Given the description of an element on the screen output the (x, y) to click on. 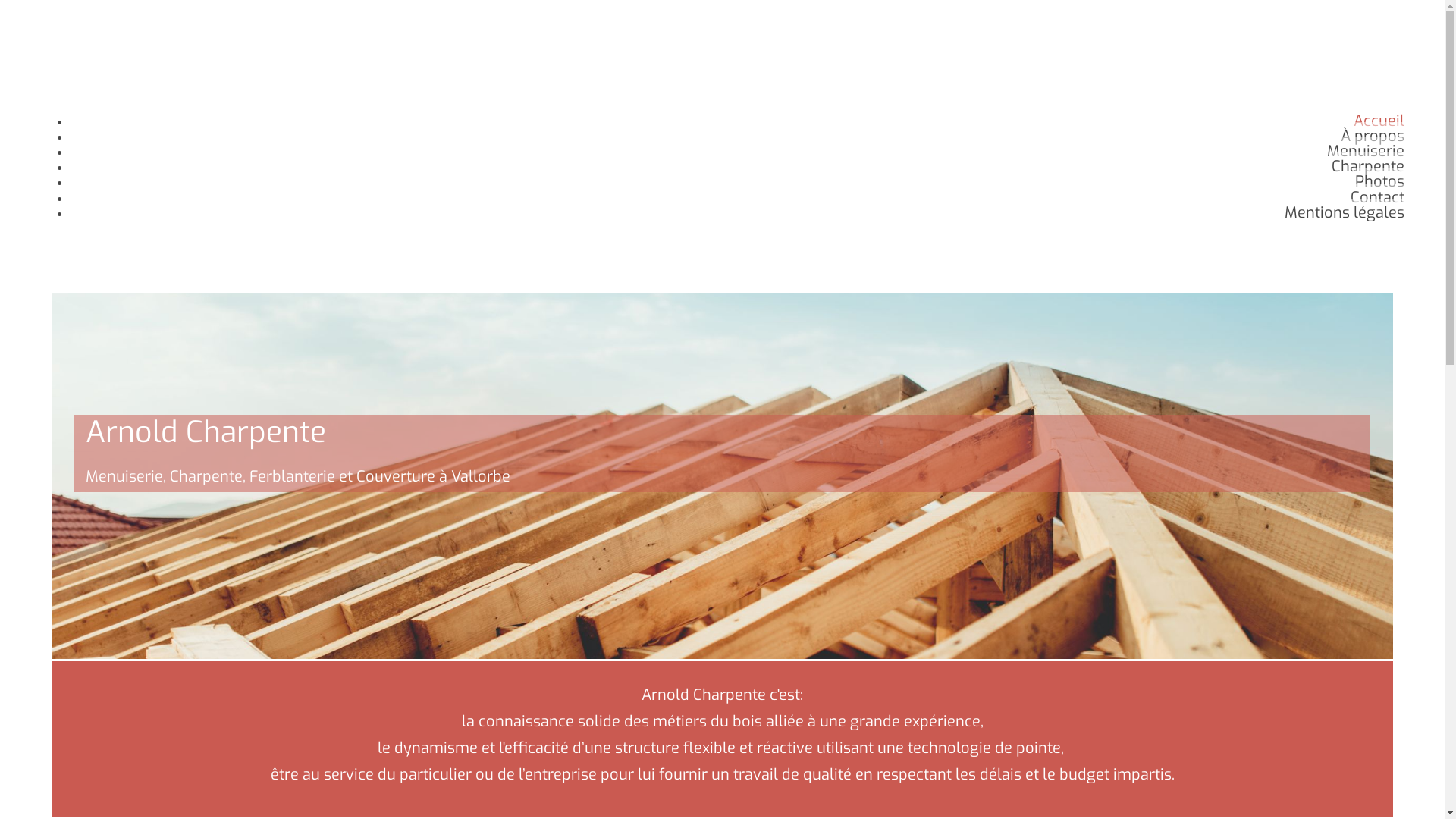
Menuiserie Element type: text (1365, 151)
Accueil Element type: text (1378, 120)
Charpente Element type: text (1367, 166)
Contact Element type: text (1377, 197)
Arnold Charpente Element type: text (96, 90)
Photos Element type: text (1379, 181)
